Given the description of an element on the screen output the (x, y) to click on. 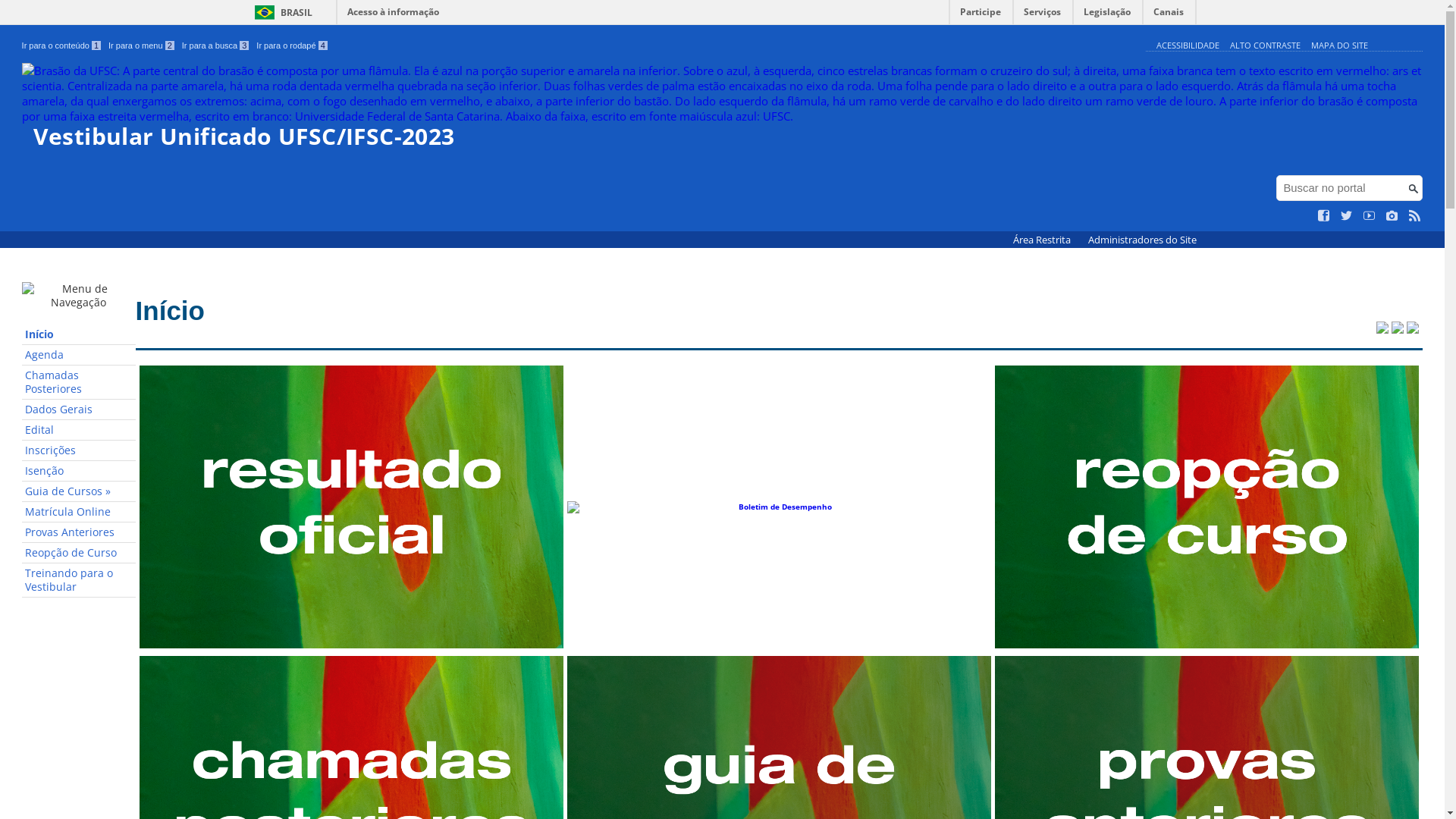
Edital Element type: text (78, 430)
Treinando para o Vestibular Element type: text (78, 580)
Agenda Element type: text (78, 355)
Chamadas Posteriores Element type: text (78, 382)
Canais Element type: text (1169, 15)
Siga no Twitter Element type: hover (1346, 216)
ALTO CONTRASTE Element type: text (1265, 44)
Veja no Instagram Element type: hover (1392, 216)
Compartilhar no Twitter Element type: hover (1382, 328)
ACESSIBILIDADE Element type: text (1187, 44)
Curta no Facebook Element type: hover (1323, 216)
Compartilhar no WhatsApp Element type: hover (1412, 328)
BRASIL Element type: text (280, 12)
Ir para o menu 2 Element type: text (141, 45)
Compartilhar no Facebook Element type: hover (1397, 328)
Dados Gerais Element type: text (78, 409)
Participe Element type: text (980, 15)
Provas Anteriores Element type: text (78, 532)
Ir para a busca 3 Element type: text (215, 45)
Administradores do Site Element type: text (1141, 239)
Vestibular Unificado UFSC/IFSC-2023 Element type: text (722, 105)
MAPA DO SITE Element type: text (1339, 44)
